Given the description of an element on the screen output the (x, y) to click on. 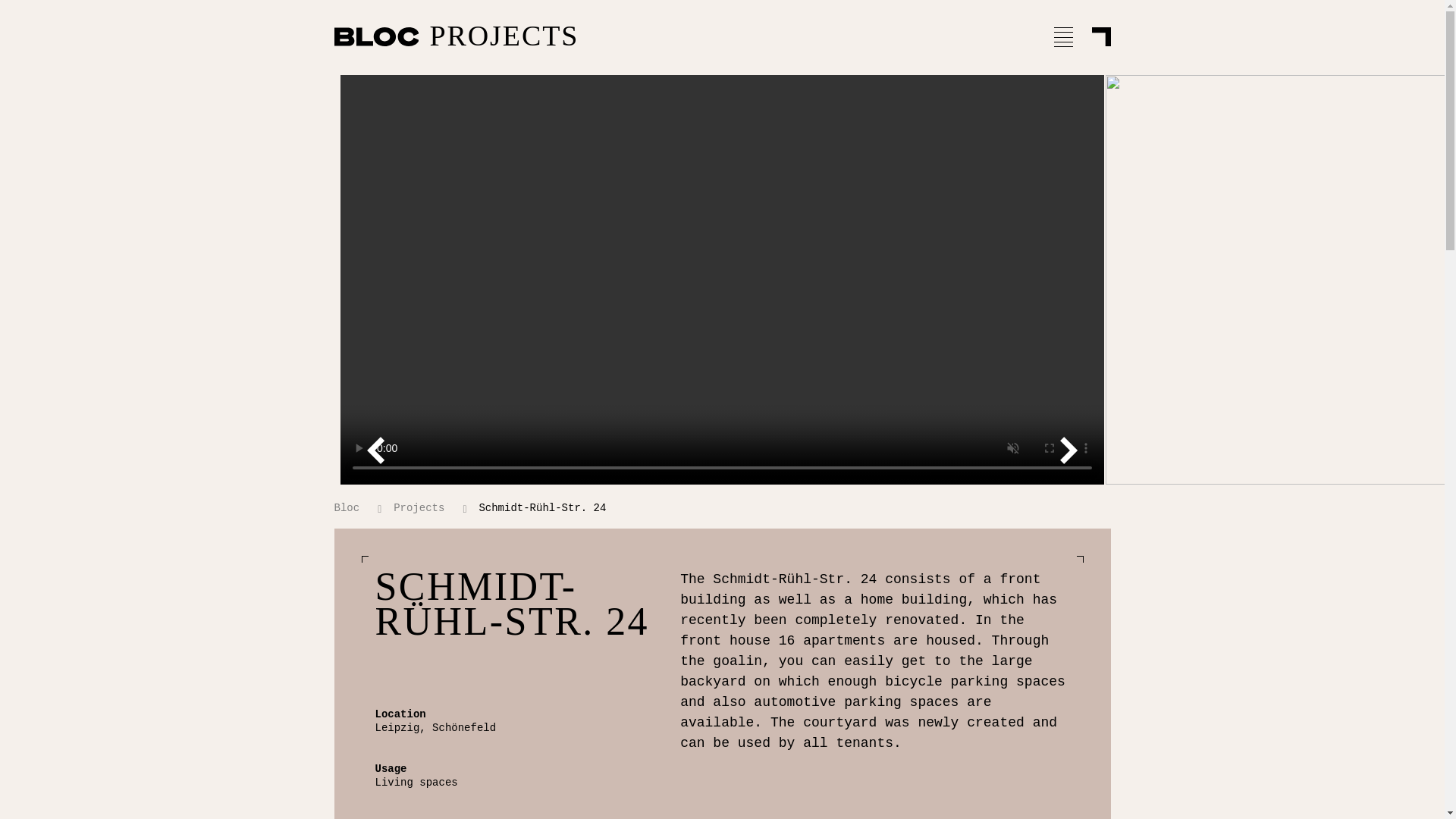
Projects (422, 508)
PROJECTS (599, 36)
Bloc (349, 508)
